Given the description of an element on the screen output the (x, y) to click on. 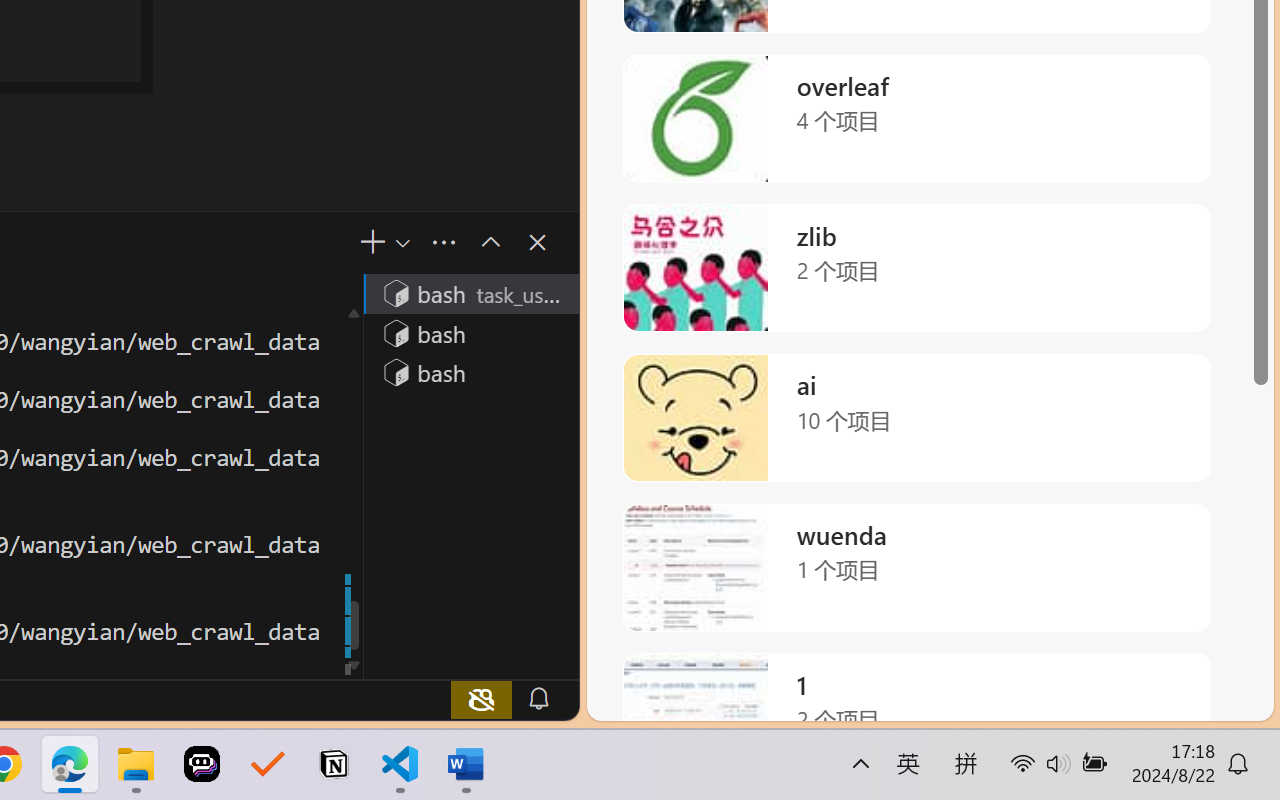
Launch Profile... (401, 243)
Notifications (537, 698)
Maximize Panel Size (488, 242)
Terminal 3 bash (470, 372)
Close Panel (535, 242)
Terminal 2 bash (470, 332)
copilot-notconnected, Copilot error (click for details) (481, 698)
Views and More Actions... (442, 243)
Terminal 1 bash (470, 292)
